Given the description of an element on the screen output the (x, y) to click on. 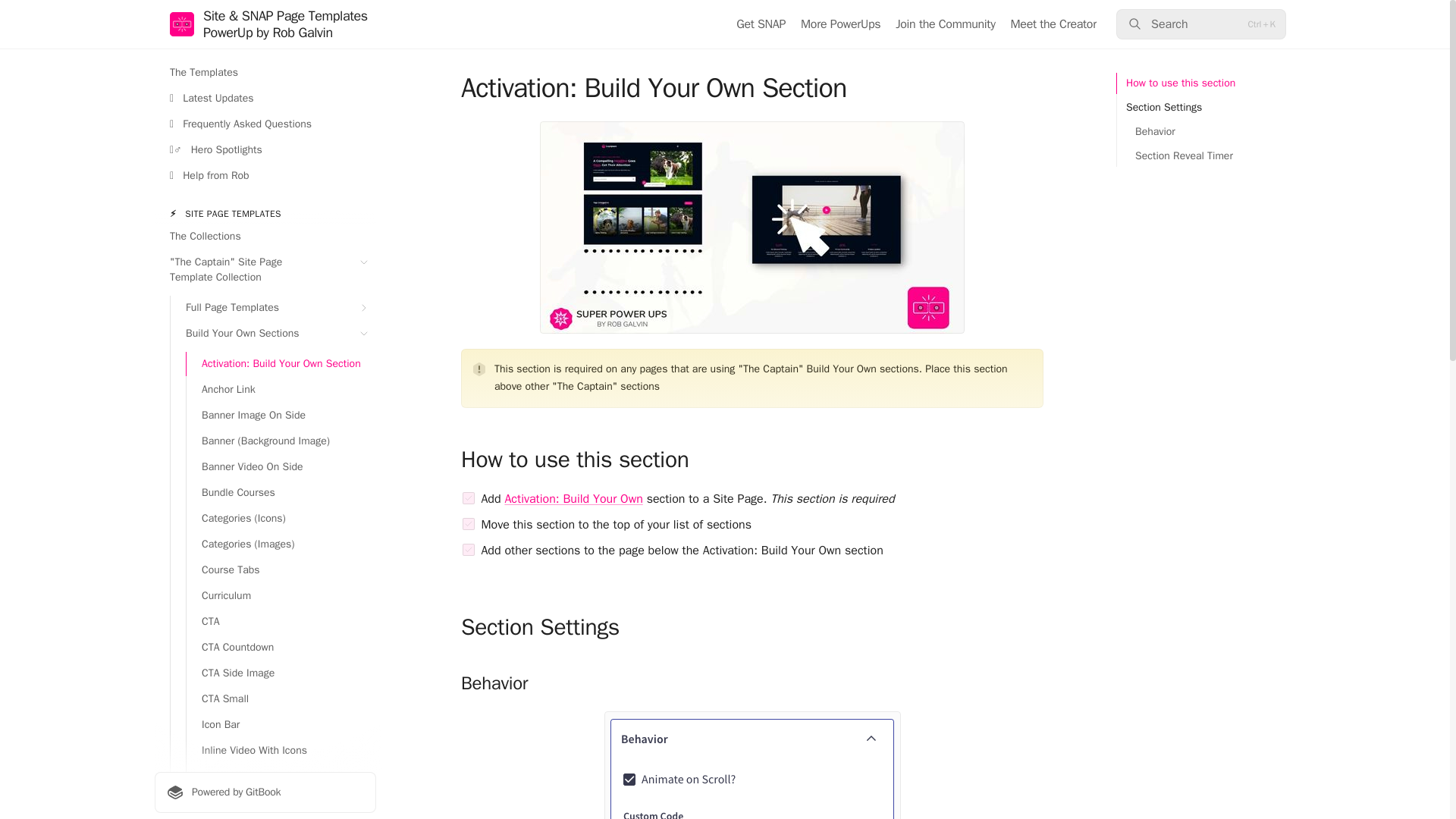
The Collections (264, 236)
Join the Community (944, 24)
More PowerUps (840, 24)
Anchor Link (280, 389)
The Templates (264, 72)
CTA Side Image (280, 672)
Build Your Own Sections (272, 333)
Course Tabs (280, 569)
Module Cards (280, 802)
"The Captain" Site Page Template Collection (264, 269)
Image Only (280, 776)
Inline Video With Icons (280, 750)
Get SNAP (761, 24)
Bundle Courses (280, 492)
